Given the description of an element on the screen output the (x, y) to click on. 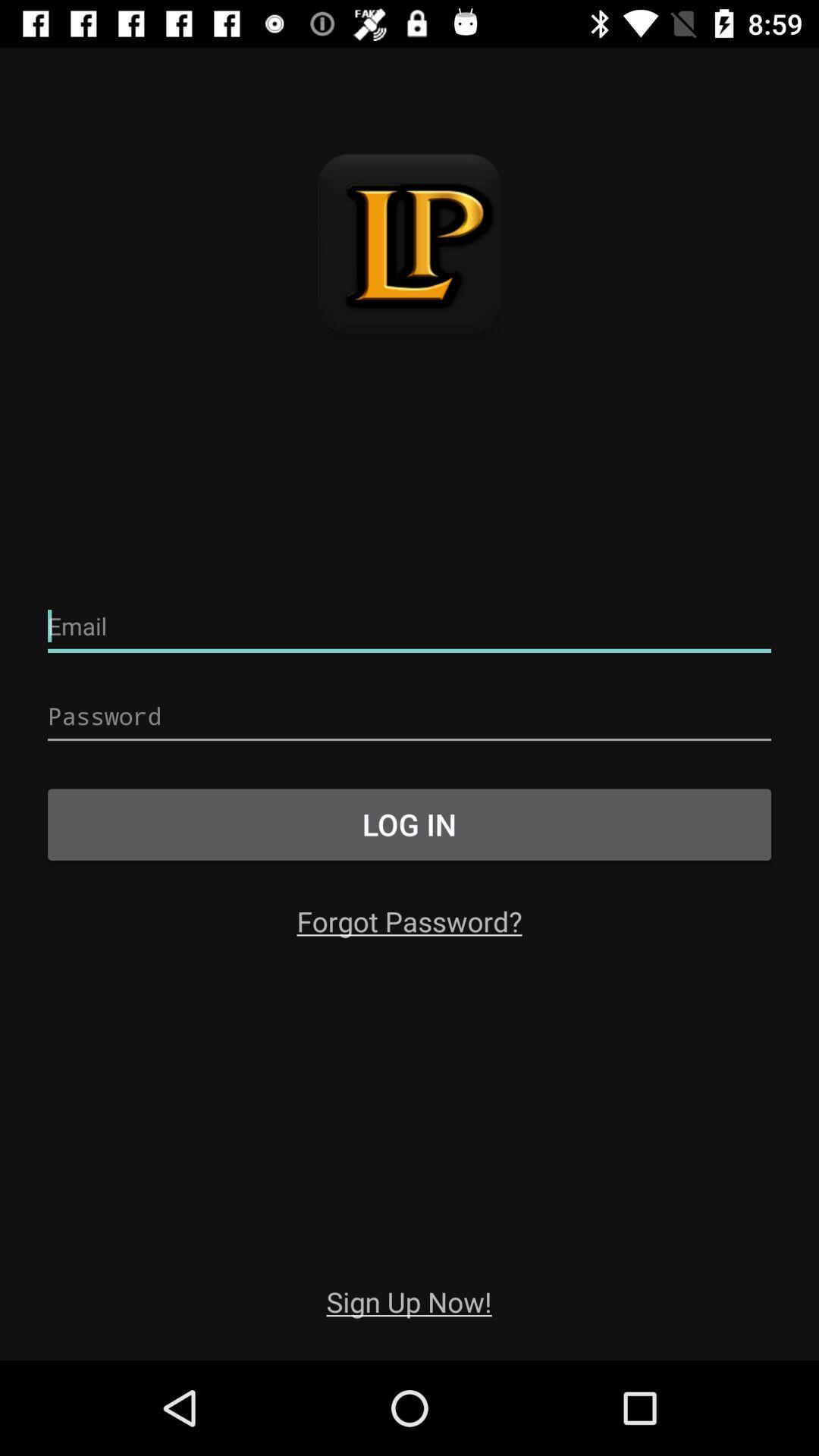
press icon above the sign up now! (409, 921)
